Given the description of an element on the screen output the (x, y) to click on. 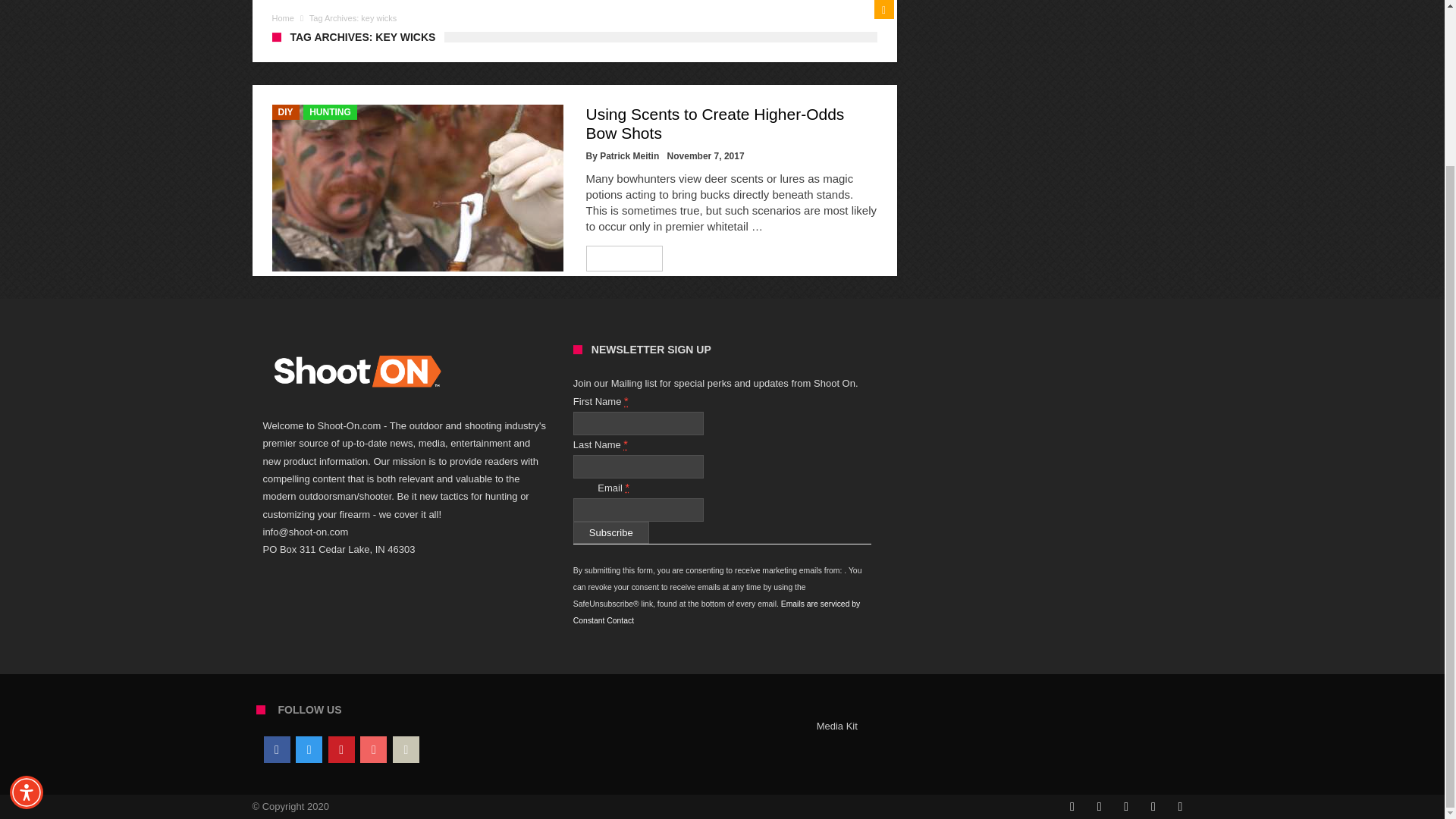
Posts by Patrick Meitin (629, 155)
Subscribe (611, 532)
Using Scents to Create Higher-Odds Bow Shots (714, 123)
DIY (284, 111)
Patrick Meitin (629, 155)
Accessibility Menu (26, 594)
HUNTING (329, 111)
Subscribe (611, 532)
Home (282, 17)
Read More (625, 258)
